Given the description of an element on the screen output the (x, y) to click on. 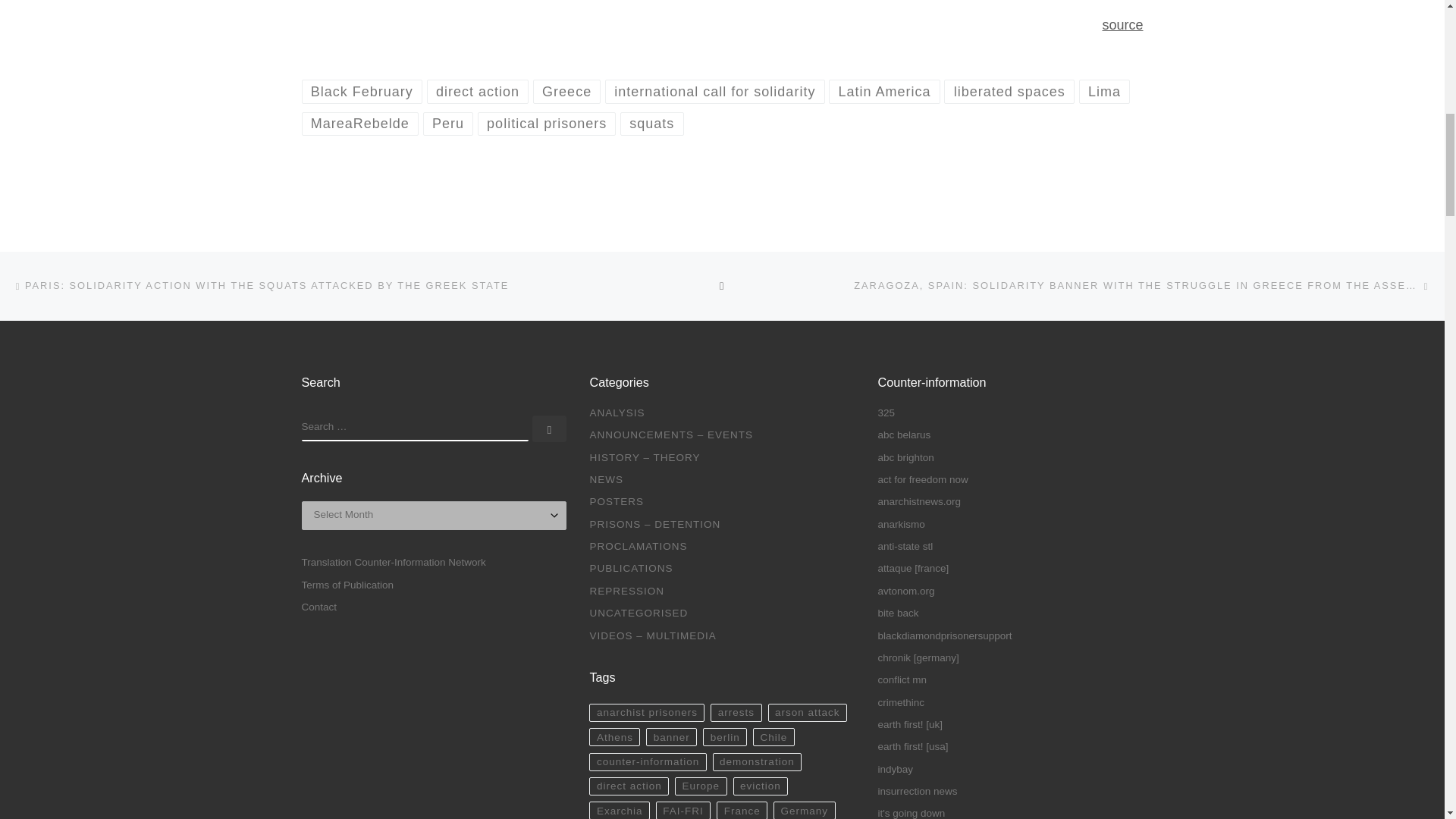
View all posts in political prisoners (546, 123)
View all posts in Black February (362, 91)
View all posts in Lima (1104, 91)
View all posts in MareaRebelde (360, 123)
View all posts in direct action (477, 91)
international call for solidarity (715, 91)
View all posts in international call for solidarity (715, 91)
View all posts in squats (652, 123)
View all posts in liberated spaces (1008, 91)
View all posts in Peru (448, 123)
